Given the description of an element on the screen output the (x, y) to click on. 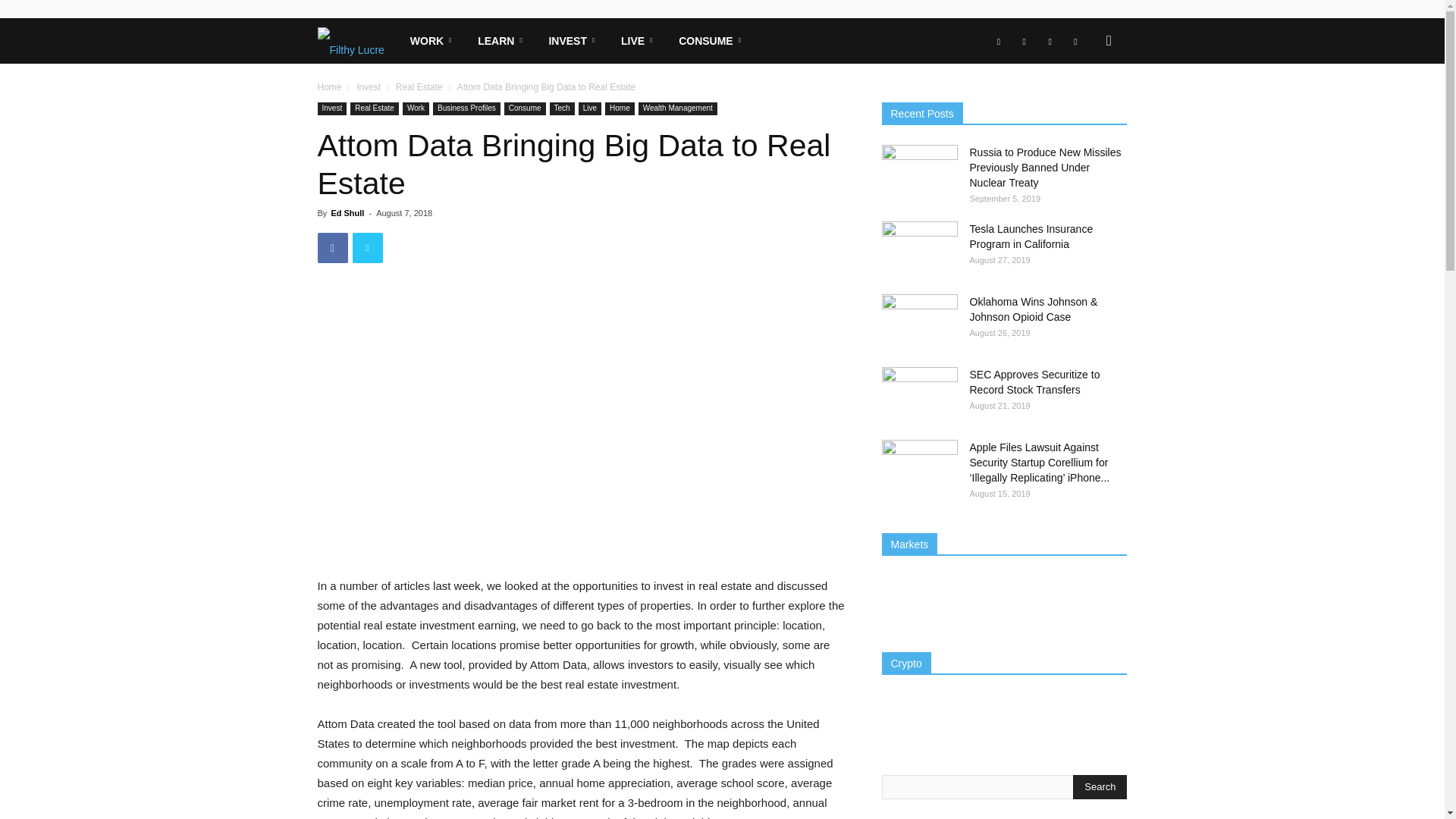
Search (1099, 786)
